Given the description of an element on the screen output the (x, y) to click on. 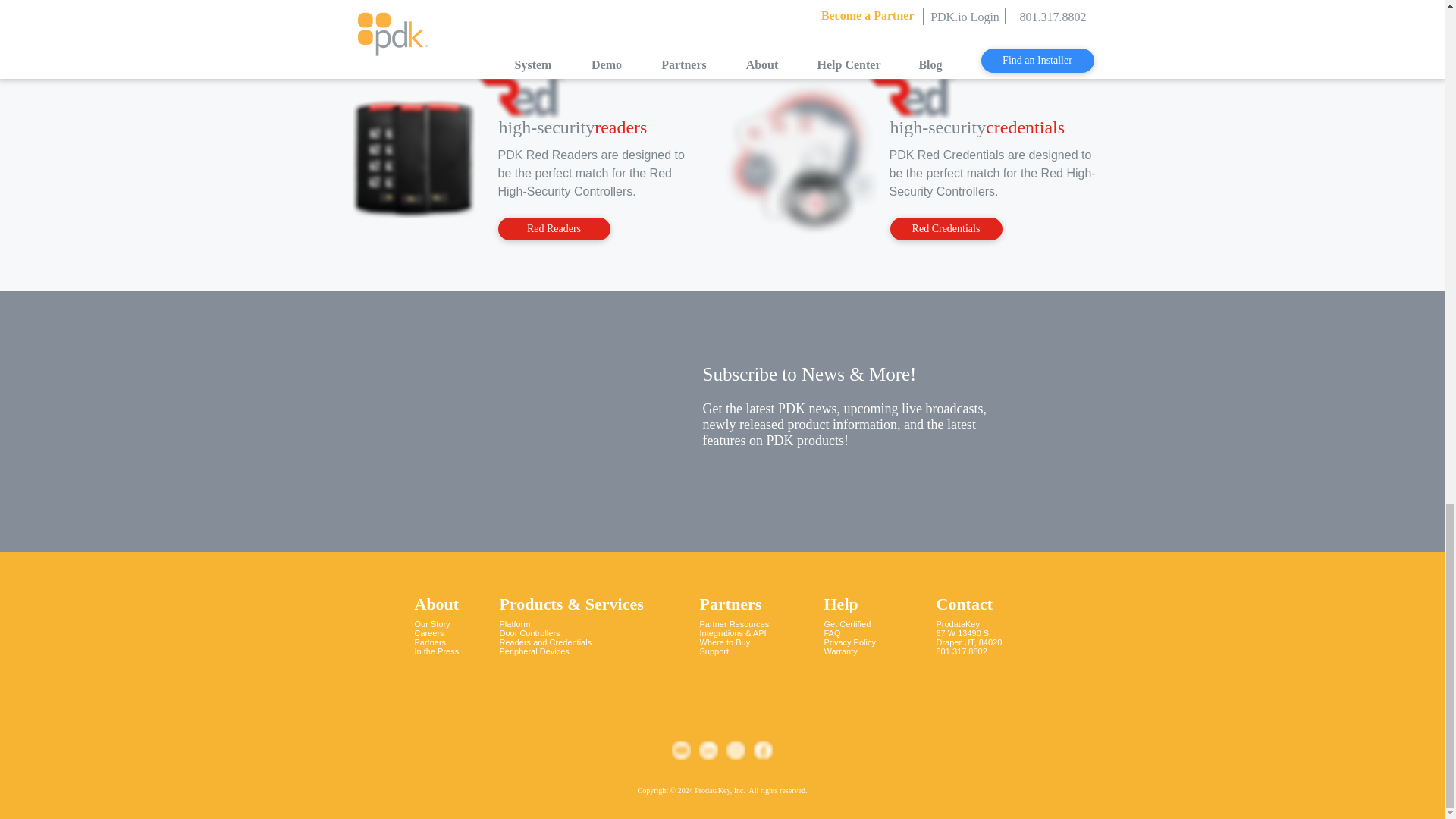
Partner Resources (733, 623)
About (435, 603)
Partners (729, 603)
Red Readers (553, 228)
Readers and Credentials (545, 642)
In the Press (435, 651)
Careers (428, 633)
Door Controllers (529, 633)
Platform (514, 623)
Peripheral Devices (534, 651)
Our Story (431, 623)
Red Credentials (946, 228)
Partners (429, 642)
